Given the description of an element on the screen output the (x, y) to click on. 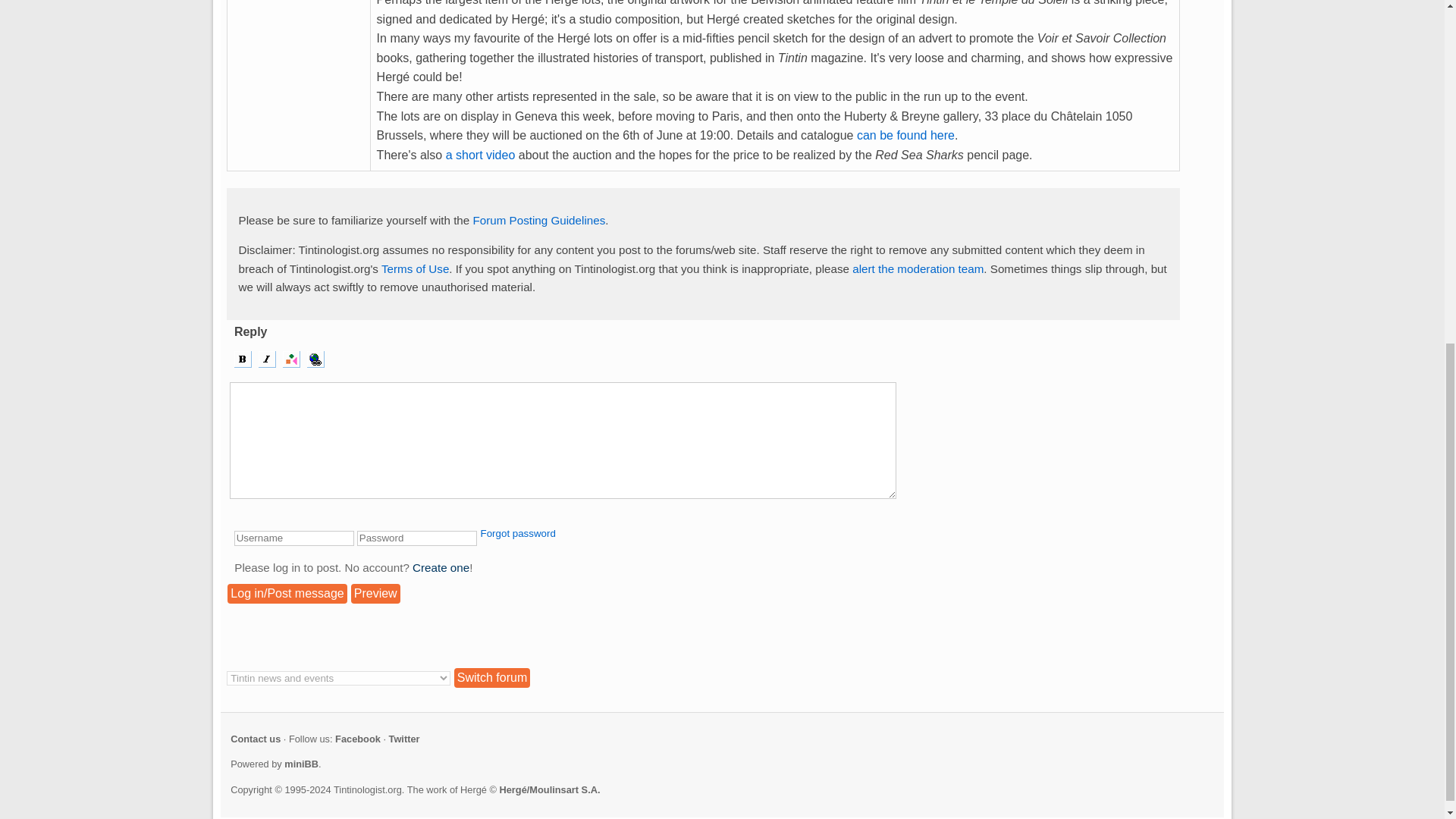
Image link (290, 359)
alert the moderation team (917, 268)
URL link (315, 359)
Bold style (242, 359)
Twitter (404, 738)
Create one (440, 567)
Preview (375, 593)
miniBB (300, 763)
Contact us (255, 738)
Italic style (267, 359)
Switch forum (491, 677)
Facebook (357, 738)
Terms of Use (414, 268)
Switch forum (491, 677)
Forgot password (518, 532)
